Given the description of an element on the screen output the (x, y) to click on. 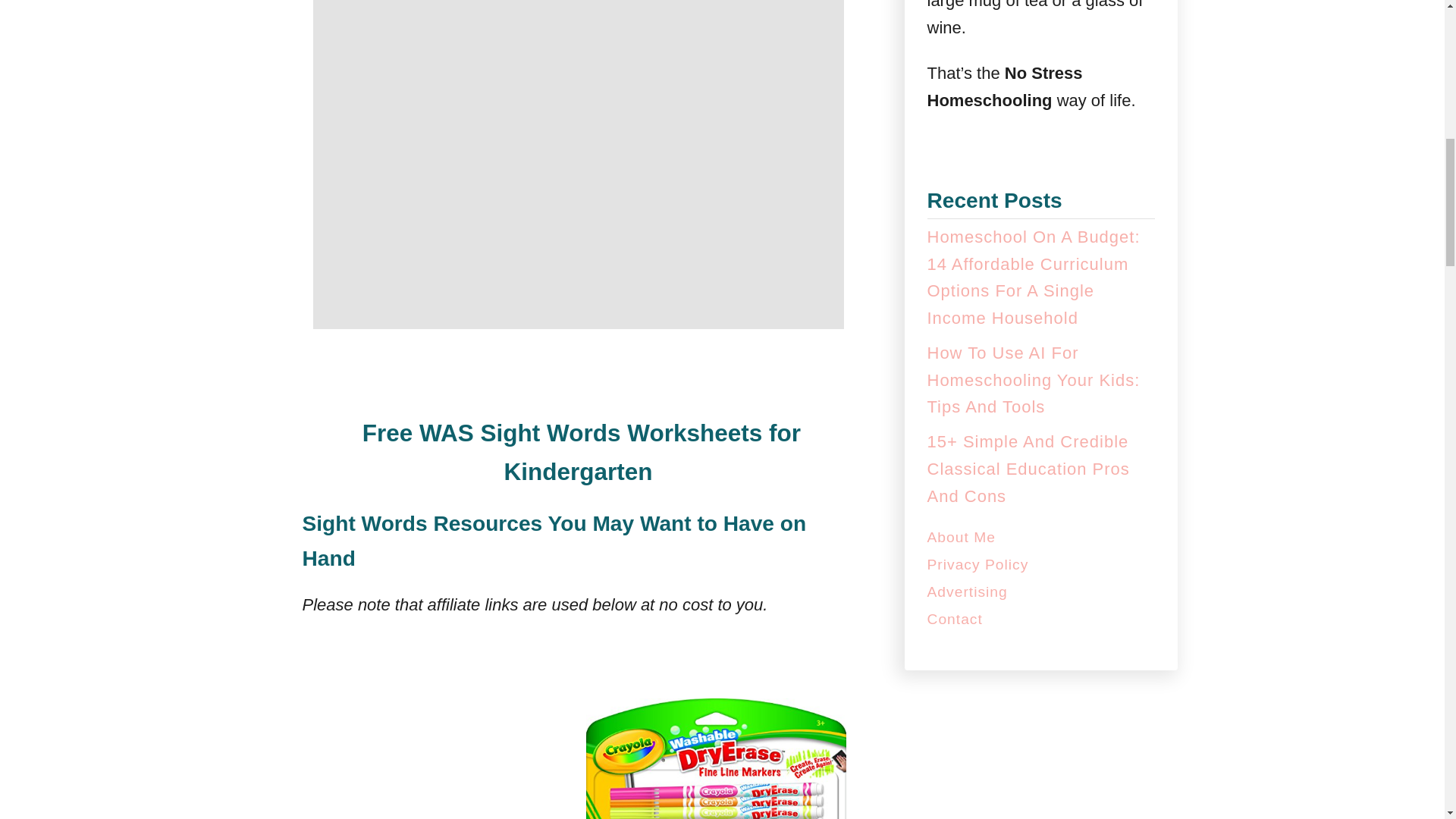
Crayola Washable Dry-Erase Markers, 12 Count (715, 751)
